Given the description of an element on the screen output the (x, y) to click on. 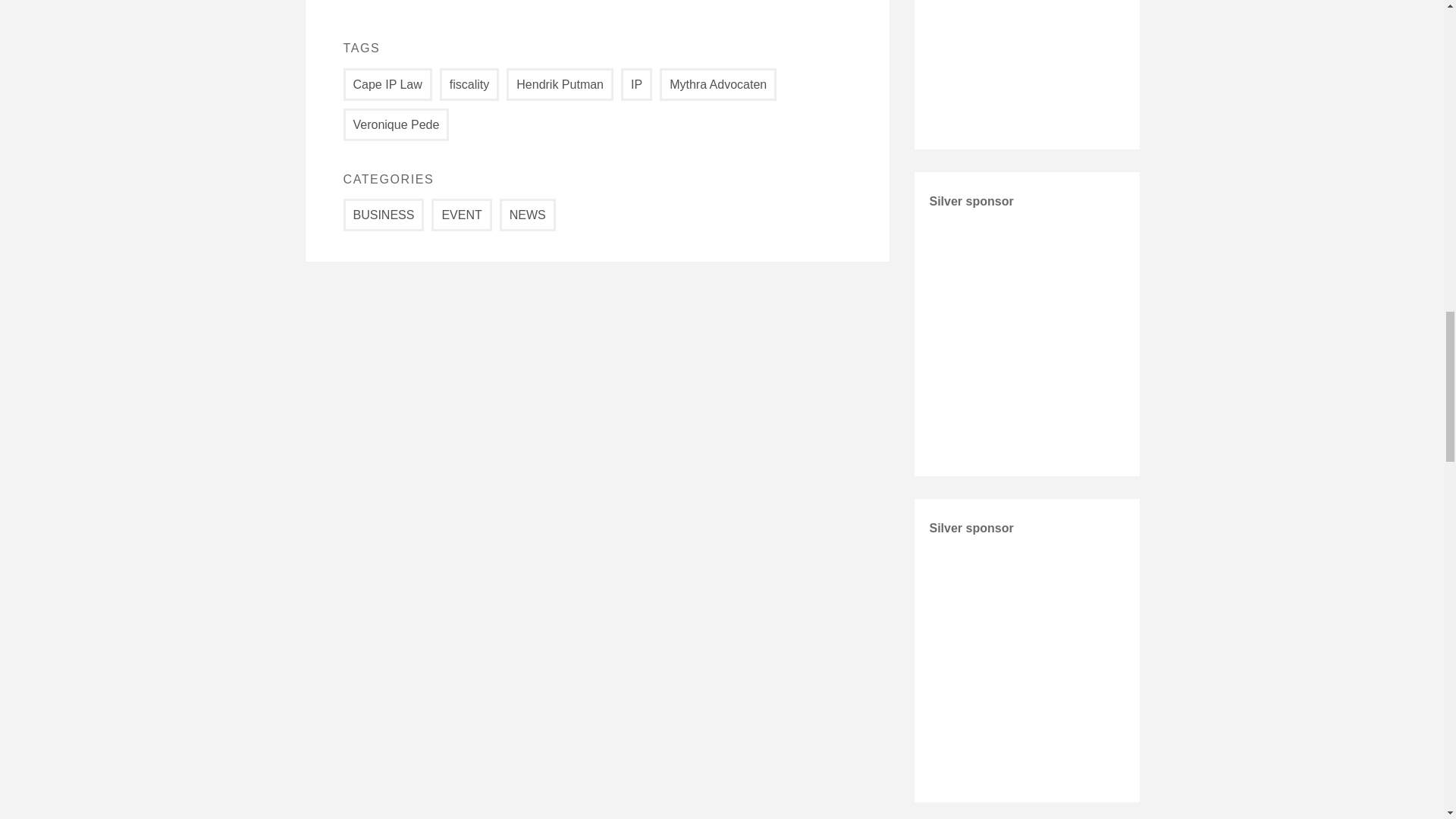
fiscality (469, 83)
Veronique Pede (395, 124)
Hendrik Putman (559, 83)
Cape IP Law (386, 83)
BUSINESS (382, 214)
NEWS (527, 214)
EVENT (461, 214)
Mythra Advocaten (717, 83)
IP (636, 83)
